Given the description of an element on the screen output the (x, y) to click on. 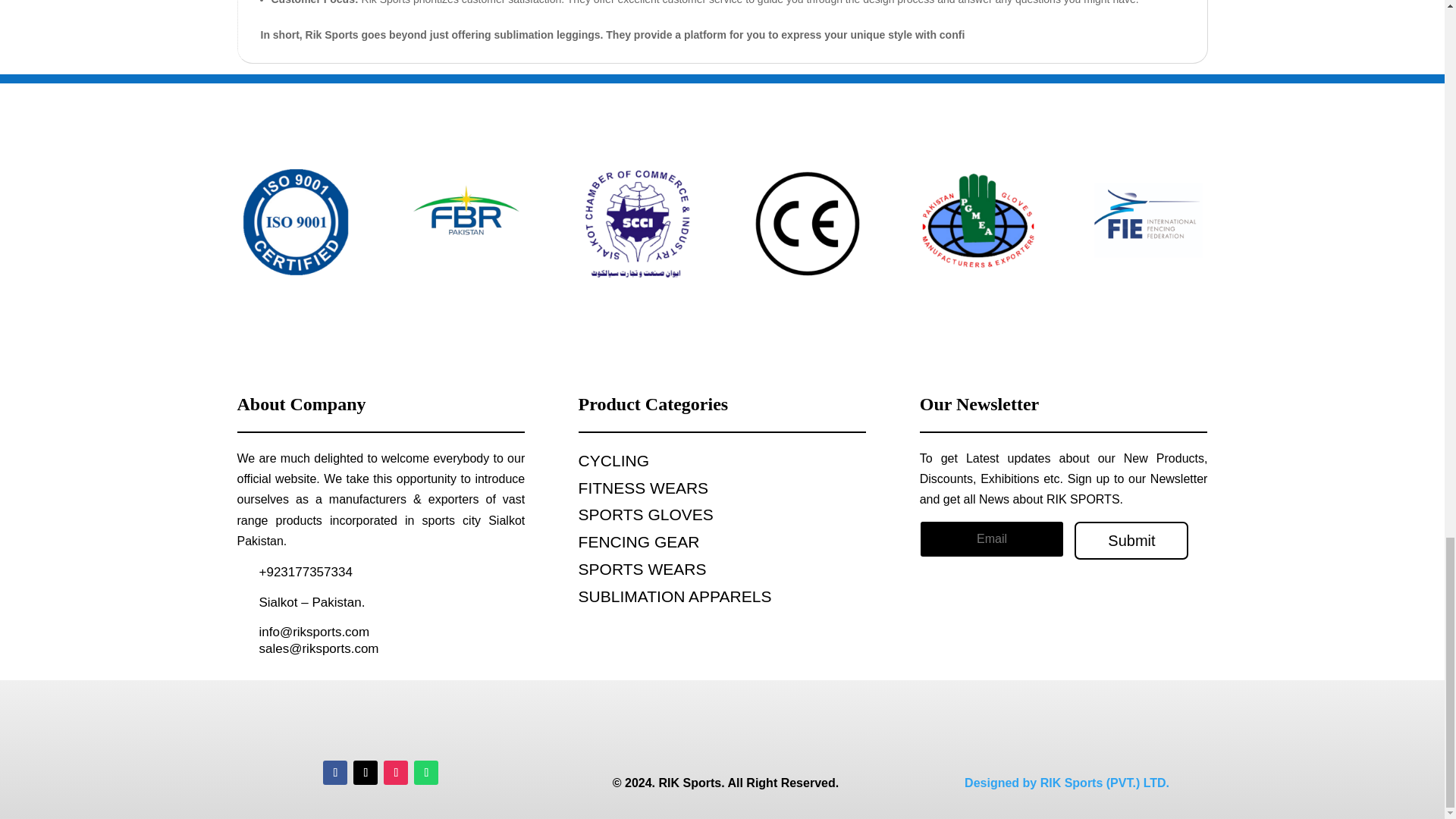
Follow on WhatsApp (425, 772)
Follow on Facebook (335, 772)
Follow on X (365, 772)
Follow on Instagram (395, 772)
